Given the description of an element on the screen output the (x, y) to click on. 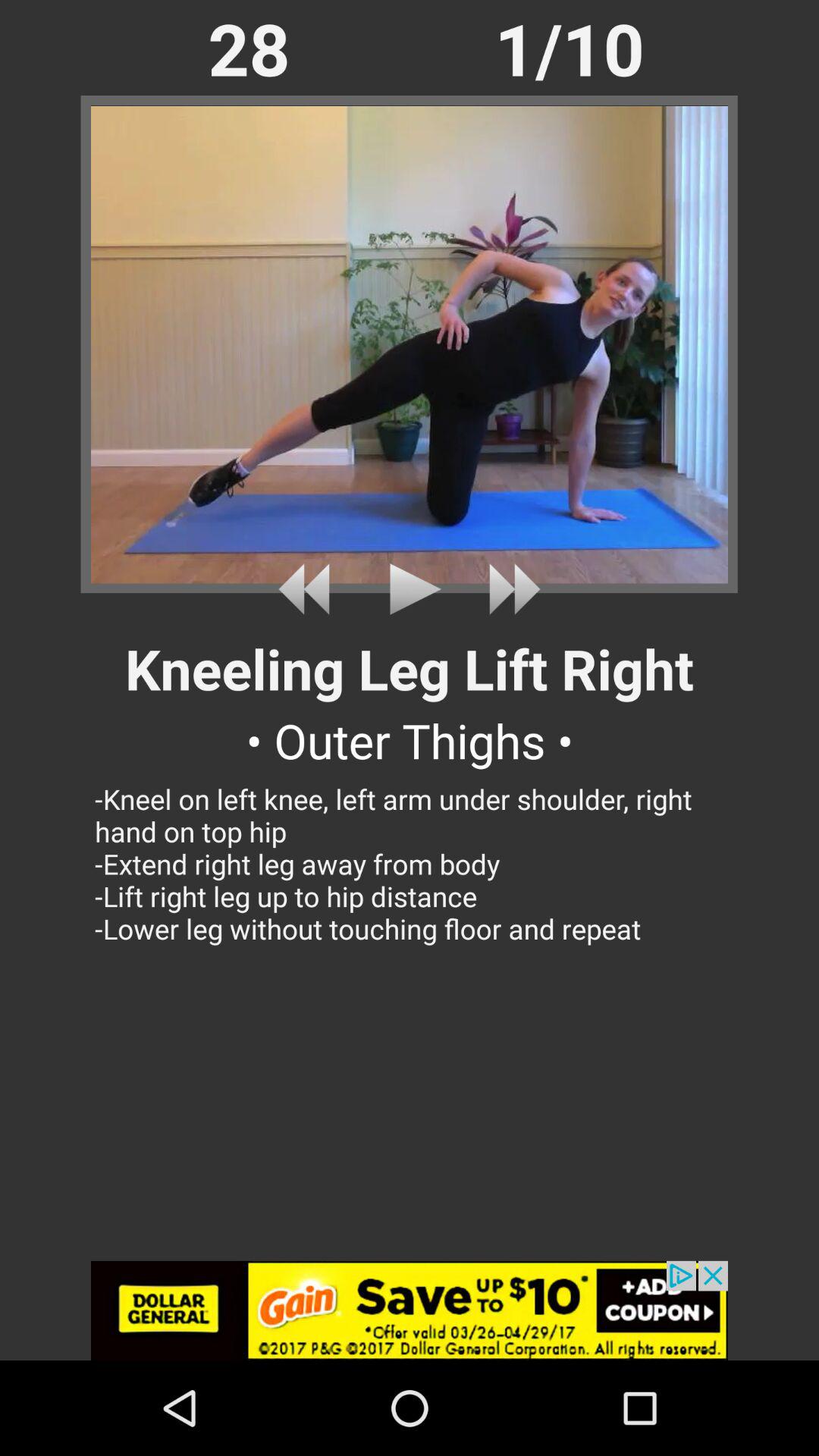
click the play button (409, 589)
